Given the description of an element on the screen output the (x, y) to click on. 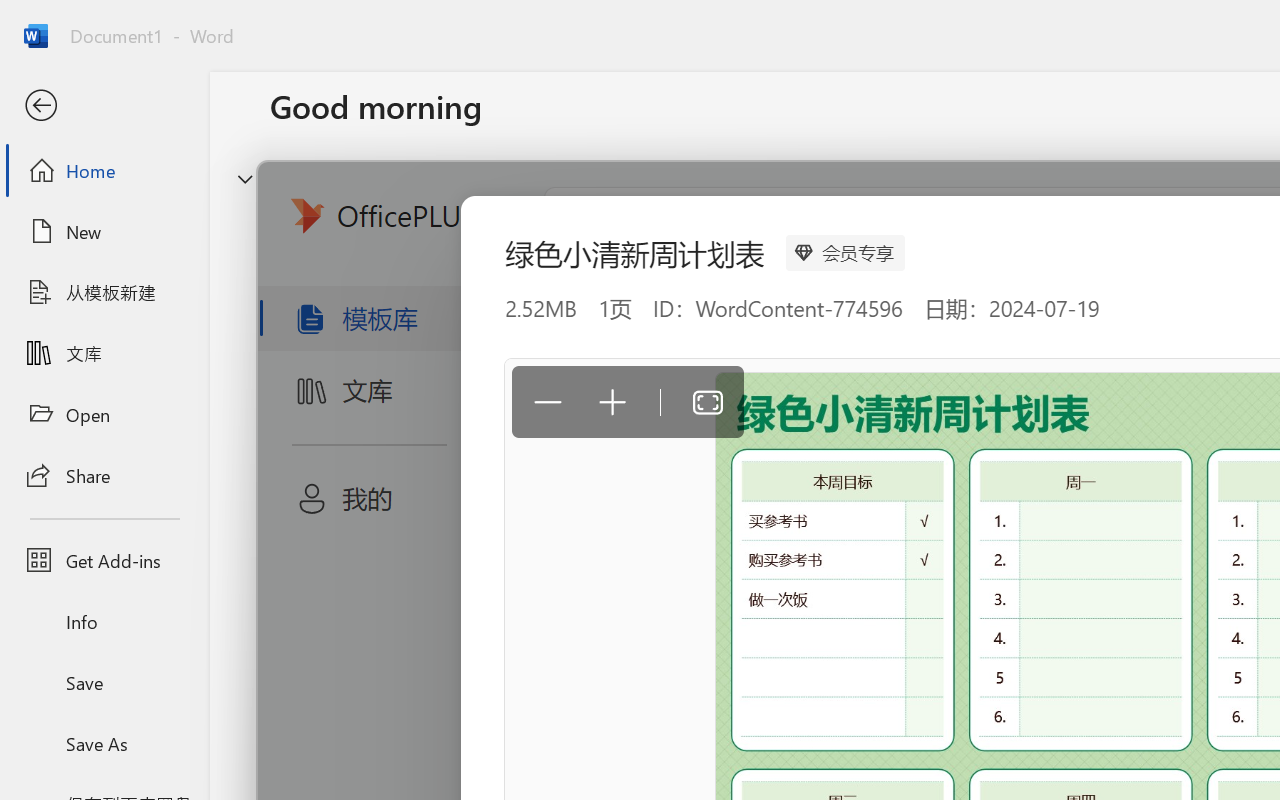
Back (104, 106)
Get Add-ins (104, 560)
Save As (104, 743)
Info (104, 621)
New (104, 231)
